Given the description of an element on the screen output the (x, y) to click on. 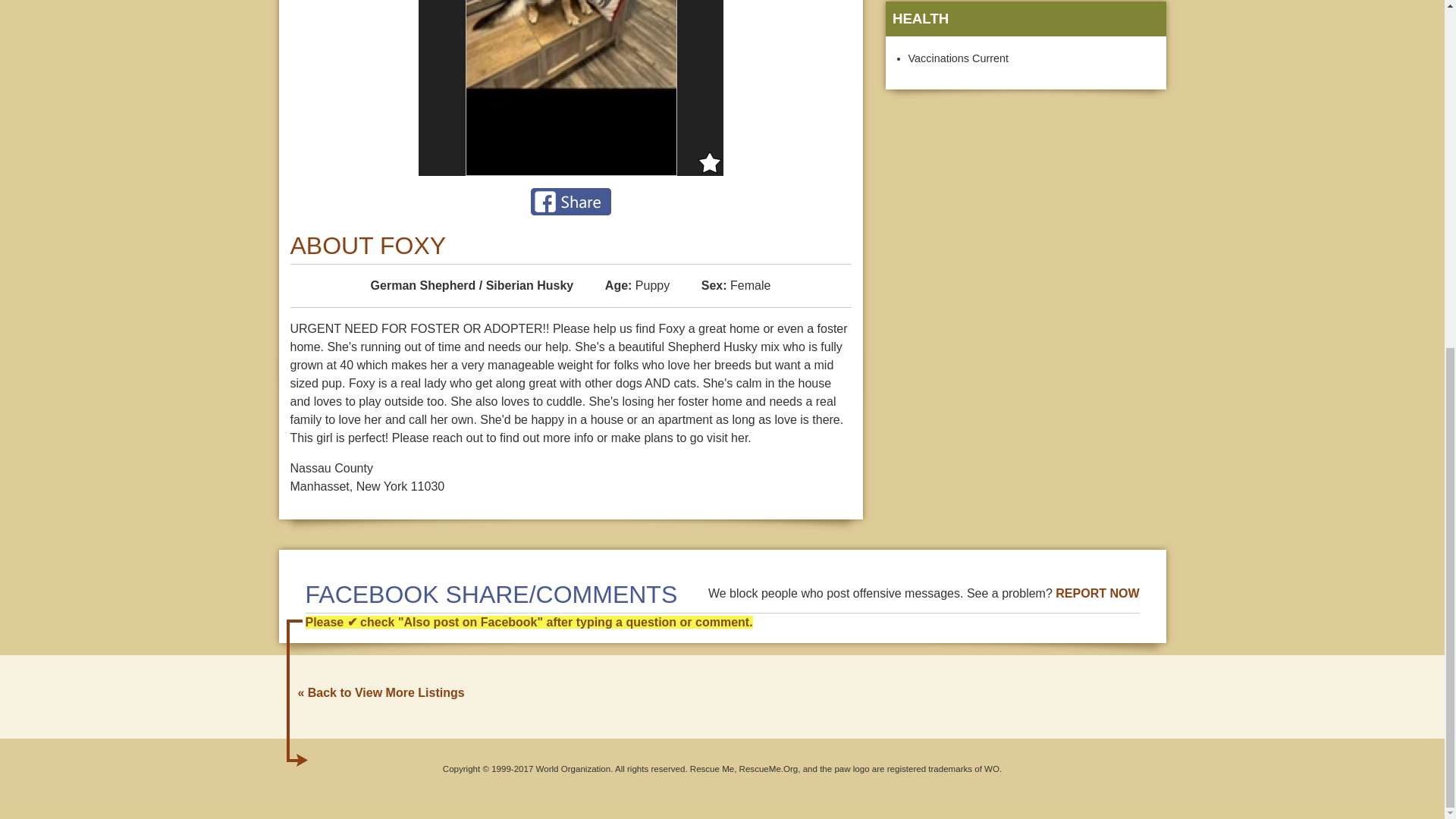
REPORT NOW (1096, 593)
Advertisement (1025, 213)
